Given the description of an element on the screen output the (x, y) to click on. 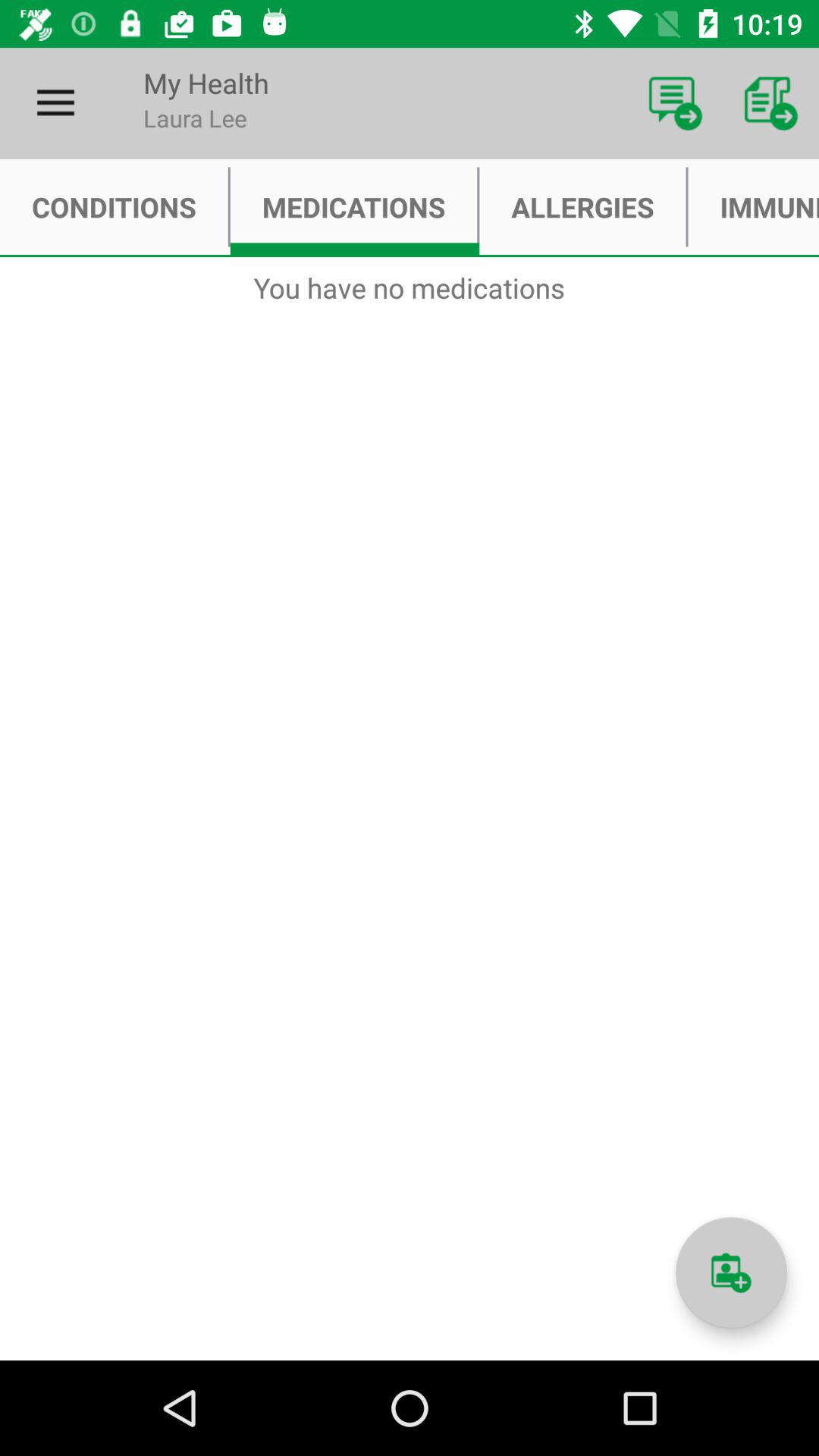
tap item above conditions item (55, 103)
